Given the description of an element on the screen output the (x, y) to click on. 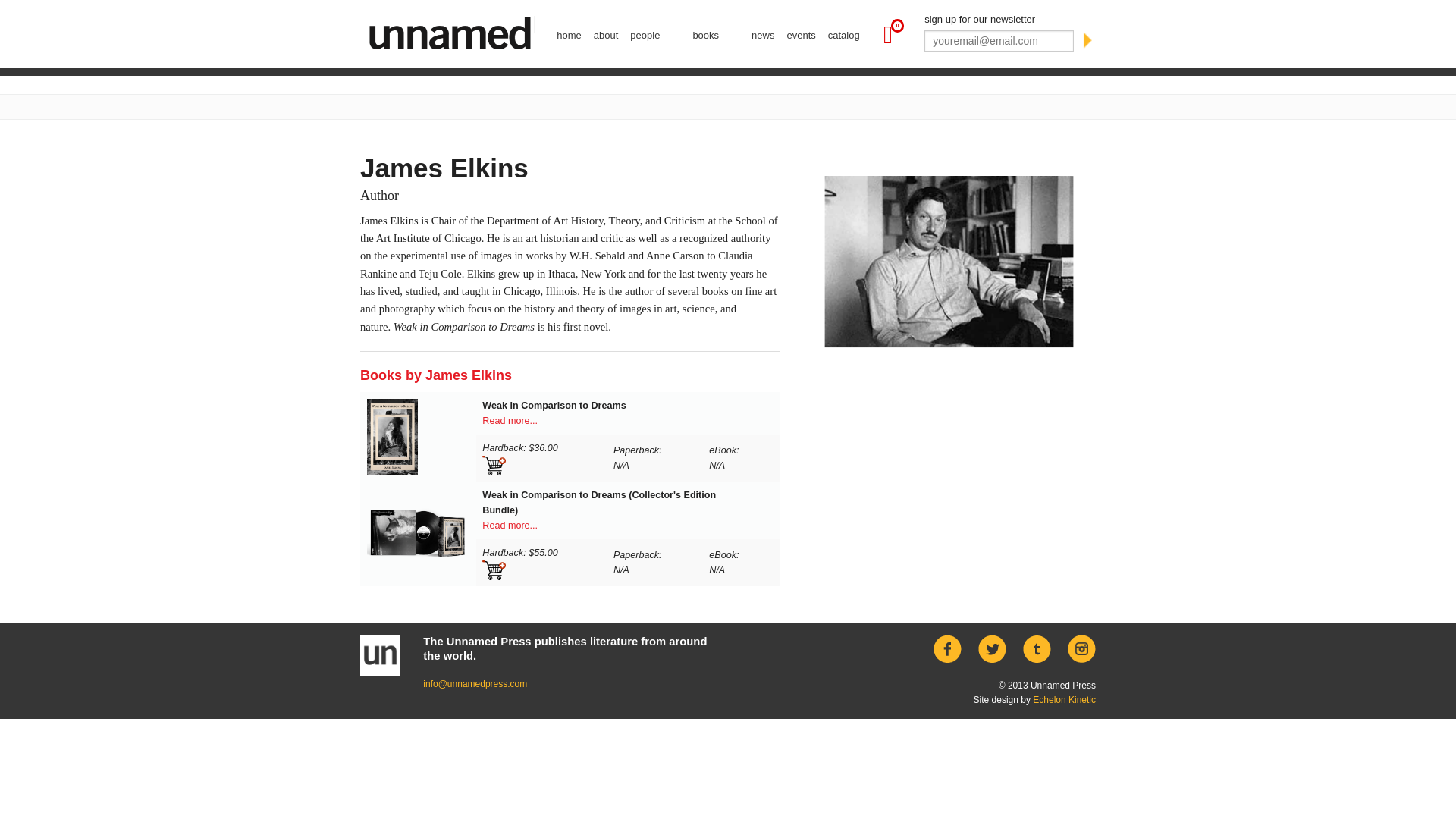
news (762, 35)
Read more... (509, 420)
people (654, 35)
events (800, 35)
catalog (844, 35)
about (606, 35)
home (569, 35)
Read more... (509, 525)
Echelon Kinetic (1064, 699)
books (715, 35)
